Given the description of an element on the screen output the (x, y) to click on. 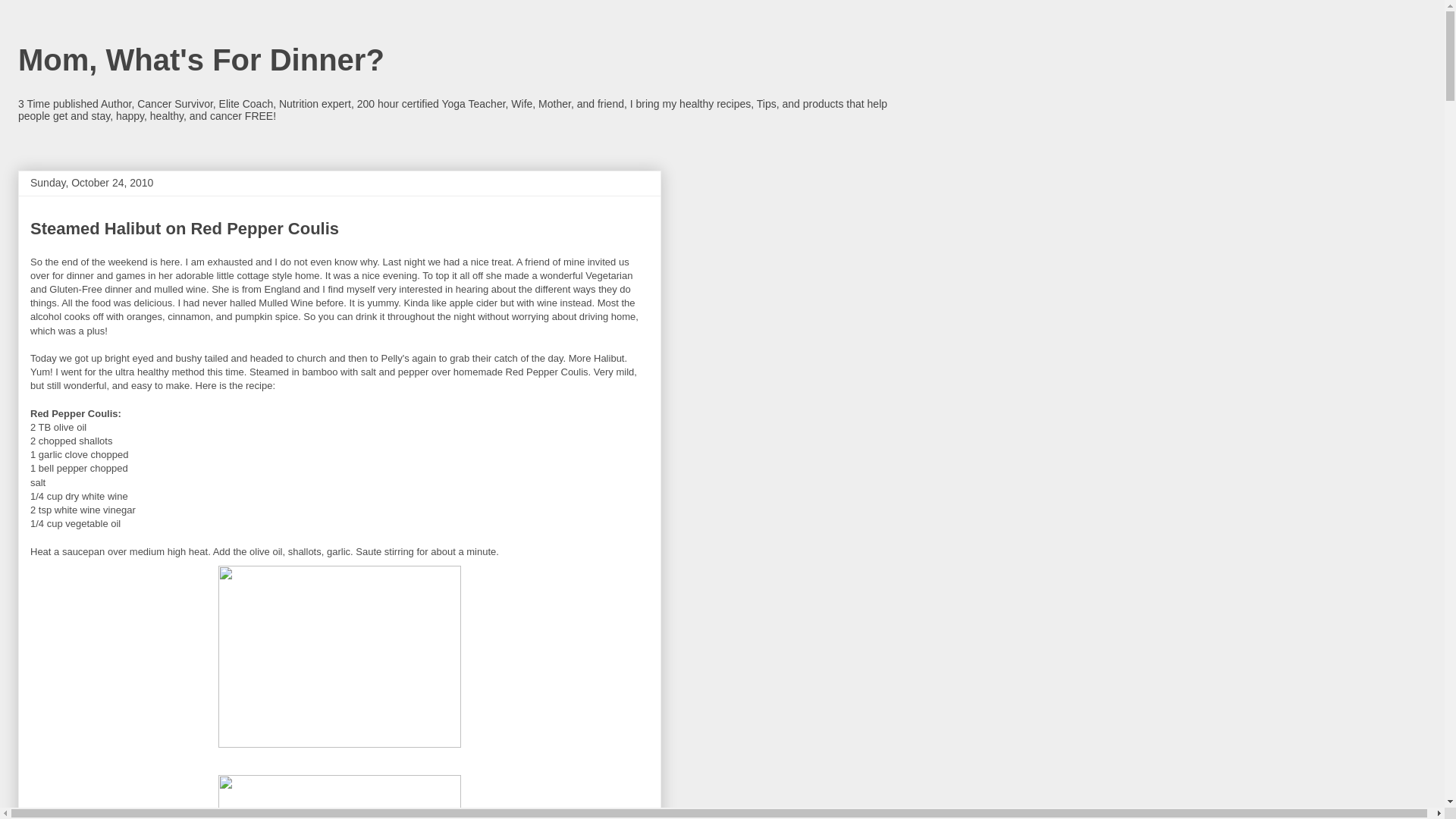
Mom, What's For Dinner? (200, 59)
